Given the description of an element on the screen output the (x, y) to click on. 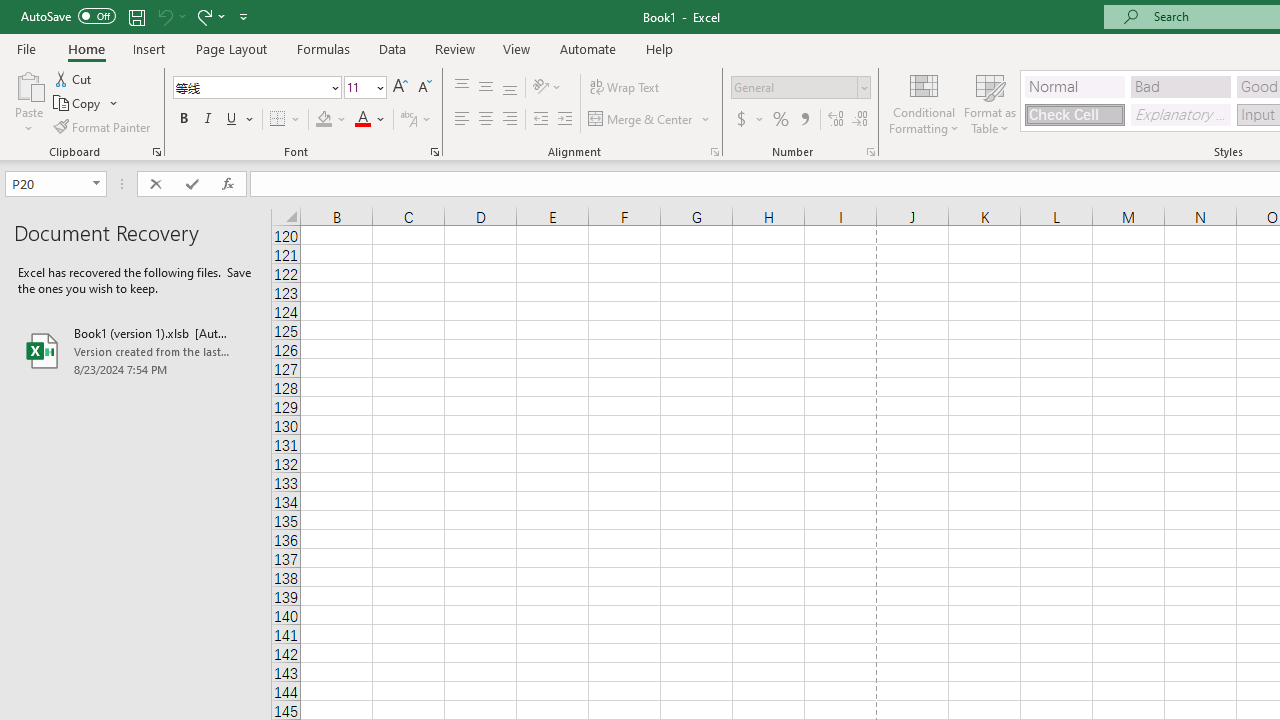
Increase Indent (565, 119)
Bold (183, 119)
